Given the description of an element on the screen output the (x, y) to click on. 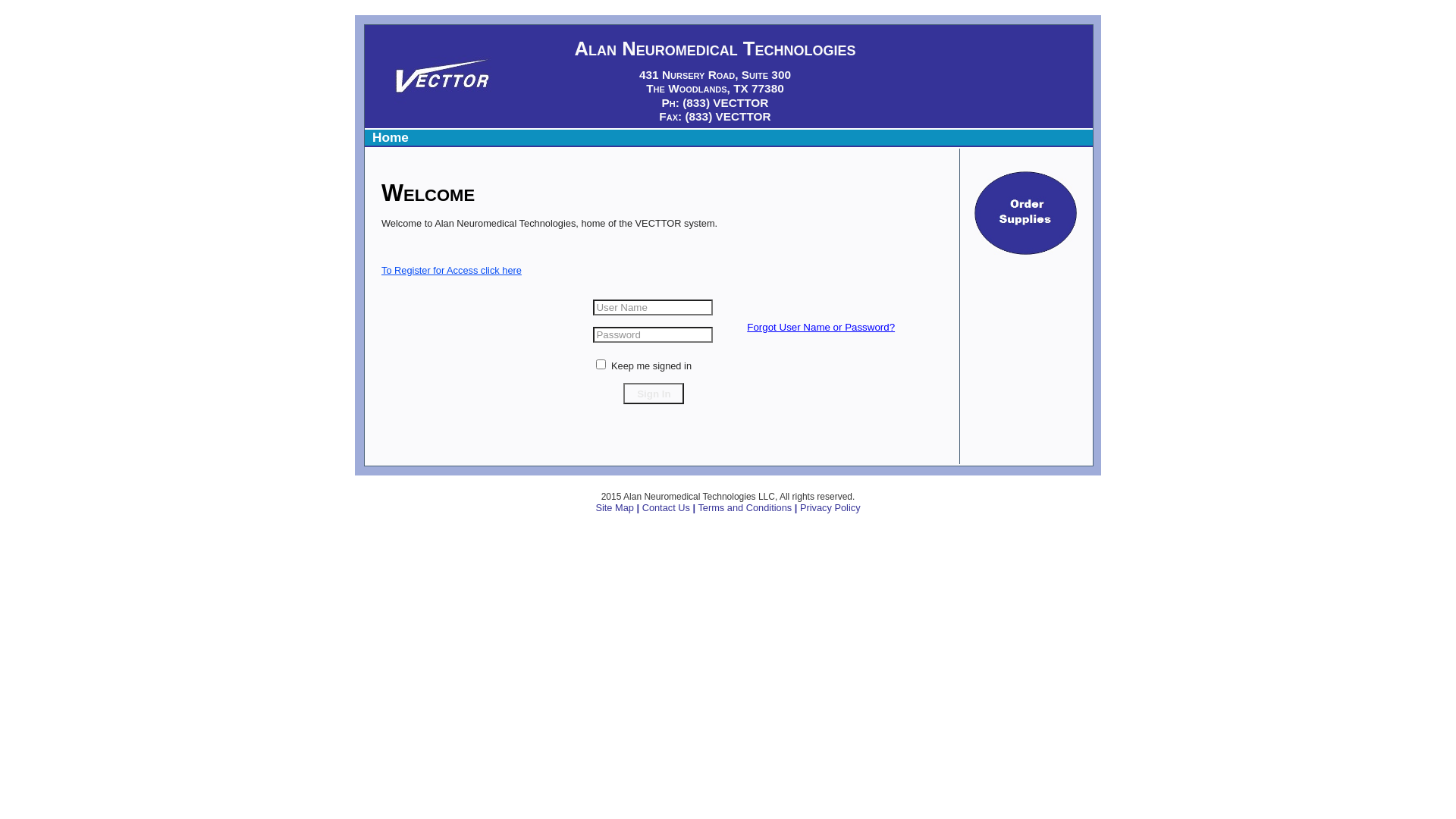
Home Element type: text (387, 136)
Sign In Element type: text (653, 393)
Forgot User Name or Password? Element type: text (820, 326)
Terms and Conditions Element type: text (744, 507)
Site Map Element type: text (614, 507)
Privacy Policy Element type: text (830, 507)
Contact Us Element type: text (666, 507)
To Register for Access click here Element type: text (451, 277)
